Given the description of an element on the screen output the (x, y) to click on. 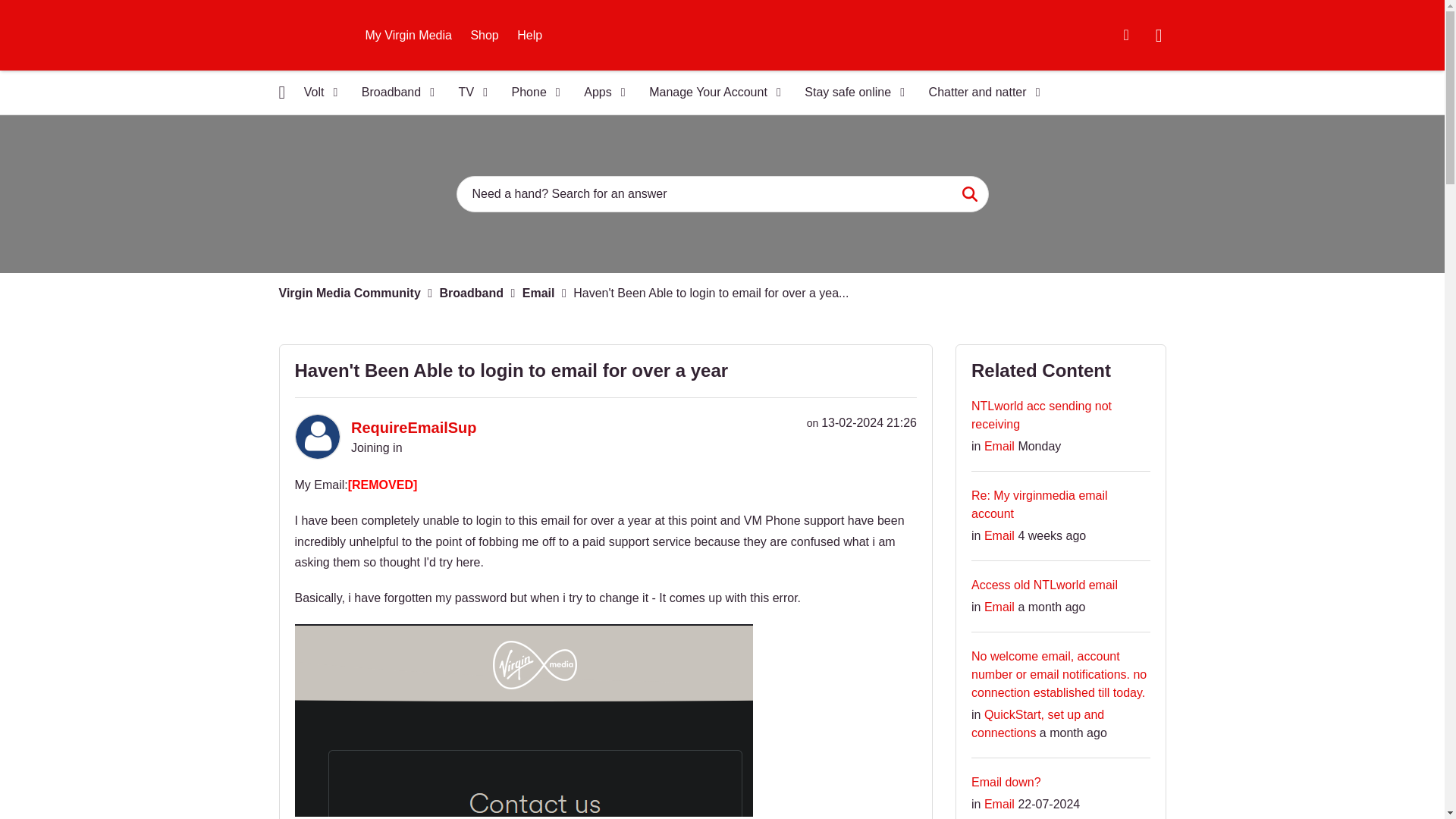
My Virgin Media (409, 34)
Help (529, 34)
Virgin Media (314, 35)
Broadband (392, 92)
Search (969, 193)
TV (468, 92)
Search (969, 193)
Search (722, 194)
VM-Email.PNG (523, 721)
Apps (599, 92)
